Given the description of an element on the screen output the (x, y) to click on. 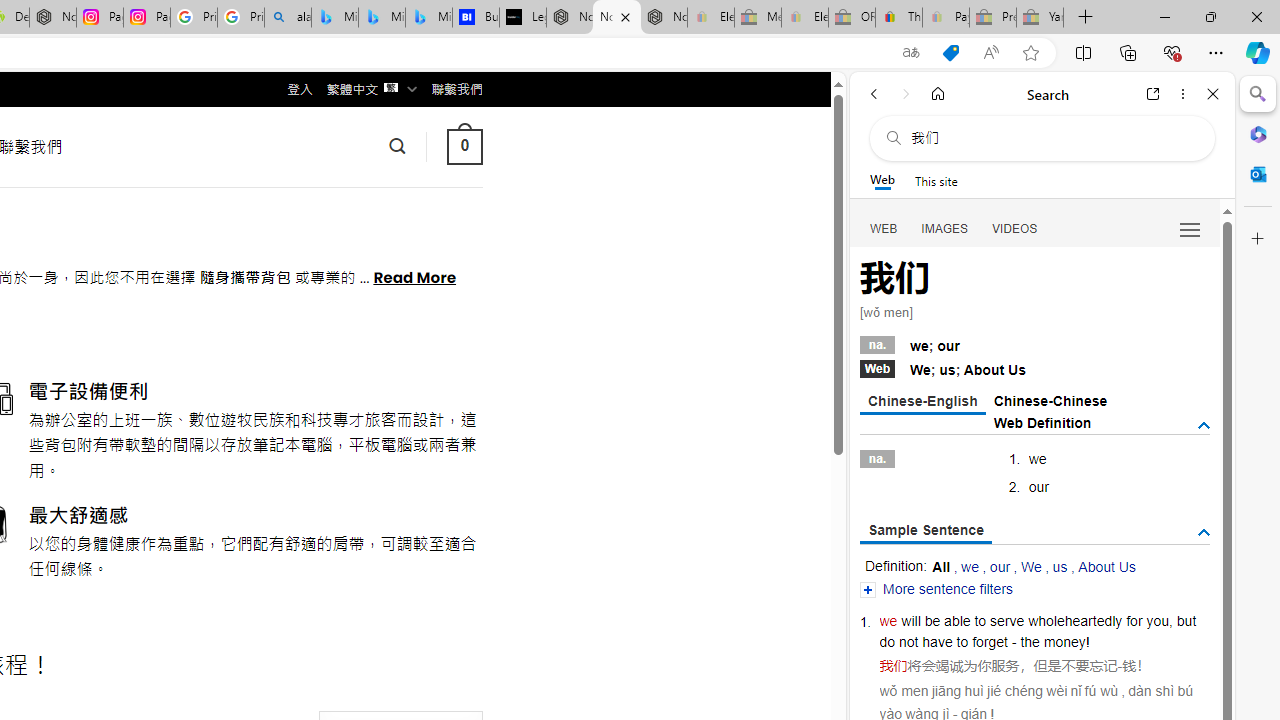
our (1000, 566)
This site scope (936, 180)
Search Filter, IMAGES (944, 228)
Web Definition (1042, 422)
alabama high school quarterback dies - Search (288, 17)
Open link in new tab (1153, 93)
Press Room - eBay Inc. - Sleeping (993, 17)
About (983, 370)
! (1087, 642)
